Given the description of an element on the screen output the (x, y) to click on. 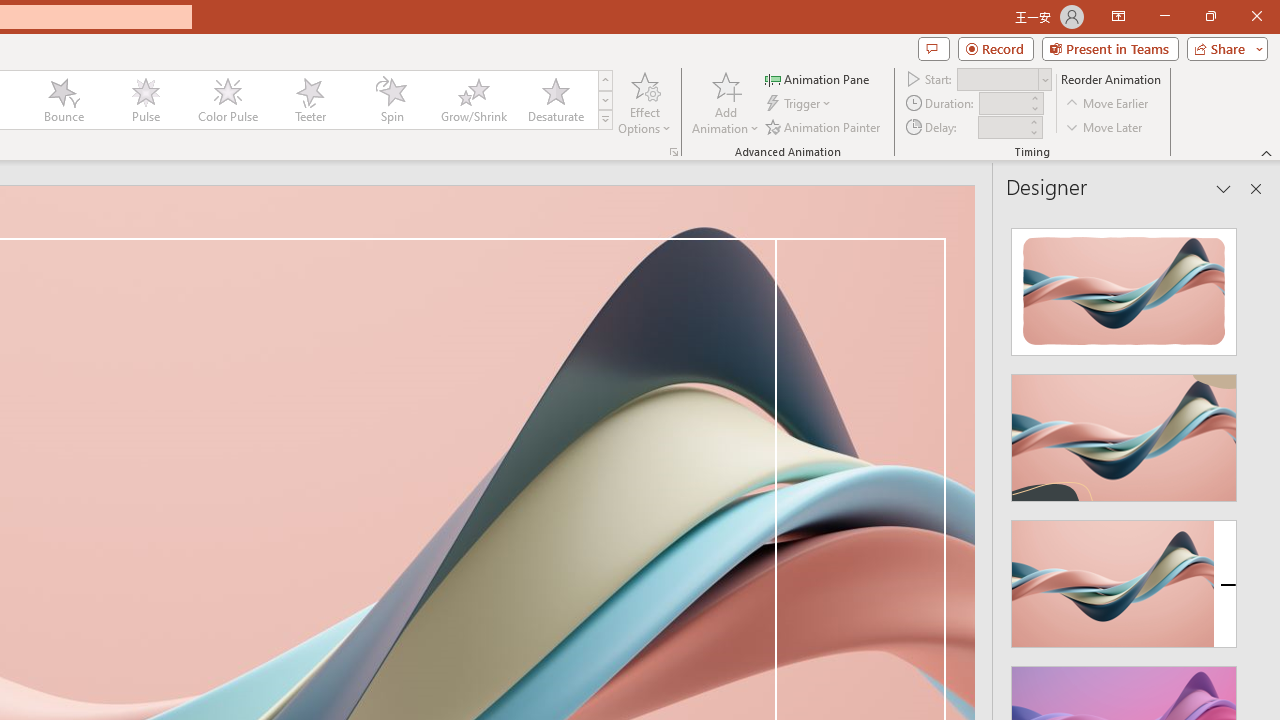
Trigger (799, 103)
More Options... (673, 151)
Animation Styles (605, 120)
Recommended Design: Design Idea (1124, 286)
Animation Painter (824, 126)
Design Idea (1124, 577)
Teeter (309, 100)
Animation Duration (1003, 103)
Pulse (145, 100)
